Given the description of an element on the screen output the (x, y) to click on. 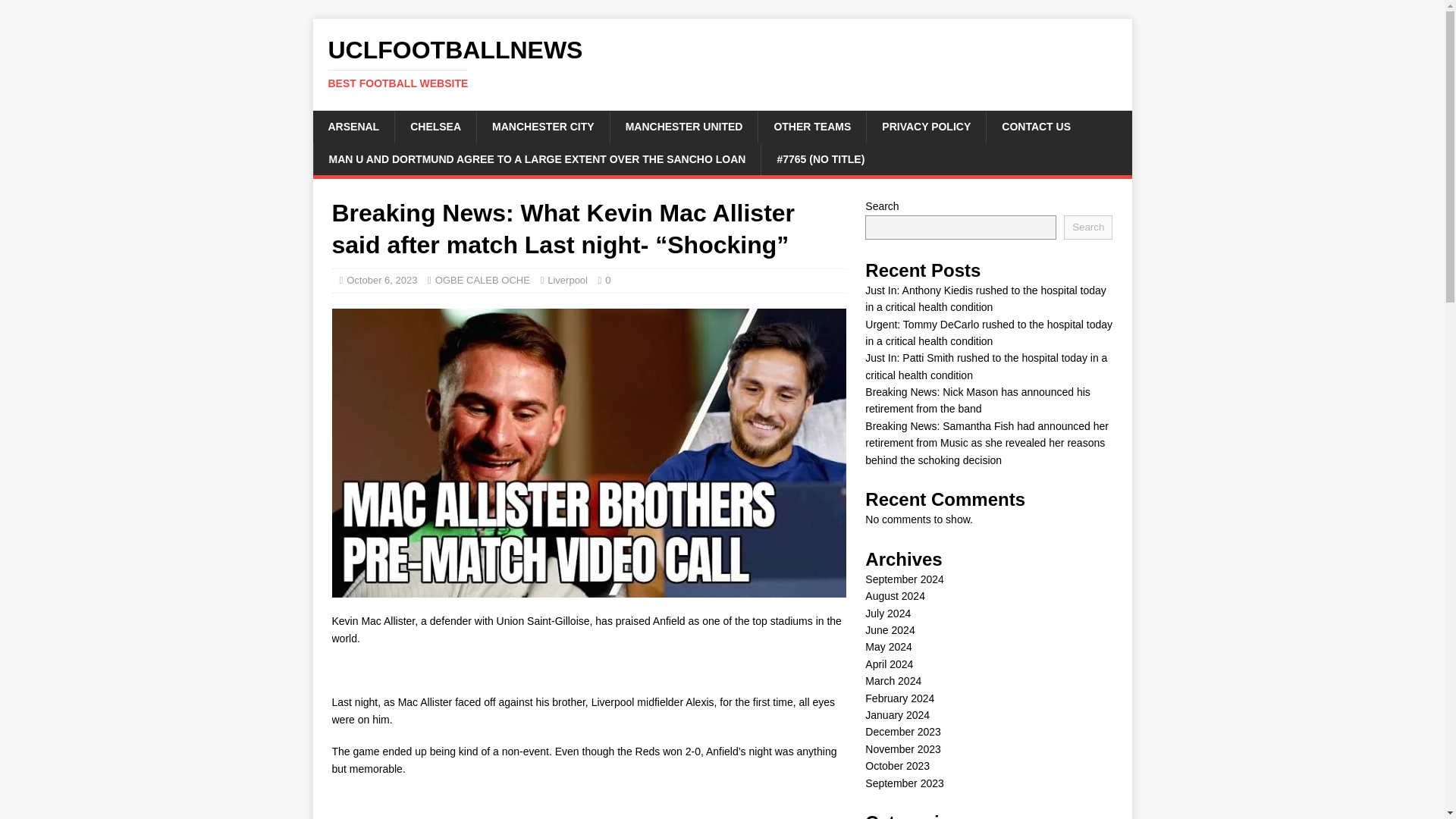
MANCHESTER UNITED (684, 126)
August 2024 (894, 595)
ARSENAL (353, 126)
OGBE CALEB OCHE (482, 279)
September 2024 (903, 579)
Search (1088, 227)
PRIVACY POLICY (925, 126)
